Given the description of an element on the screen output the (x, y) to click on. 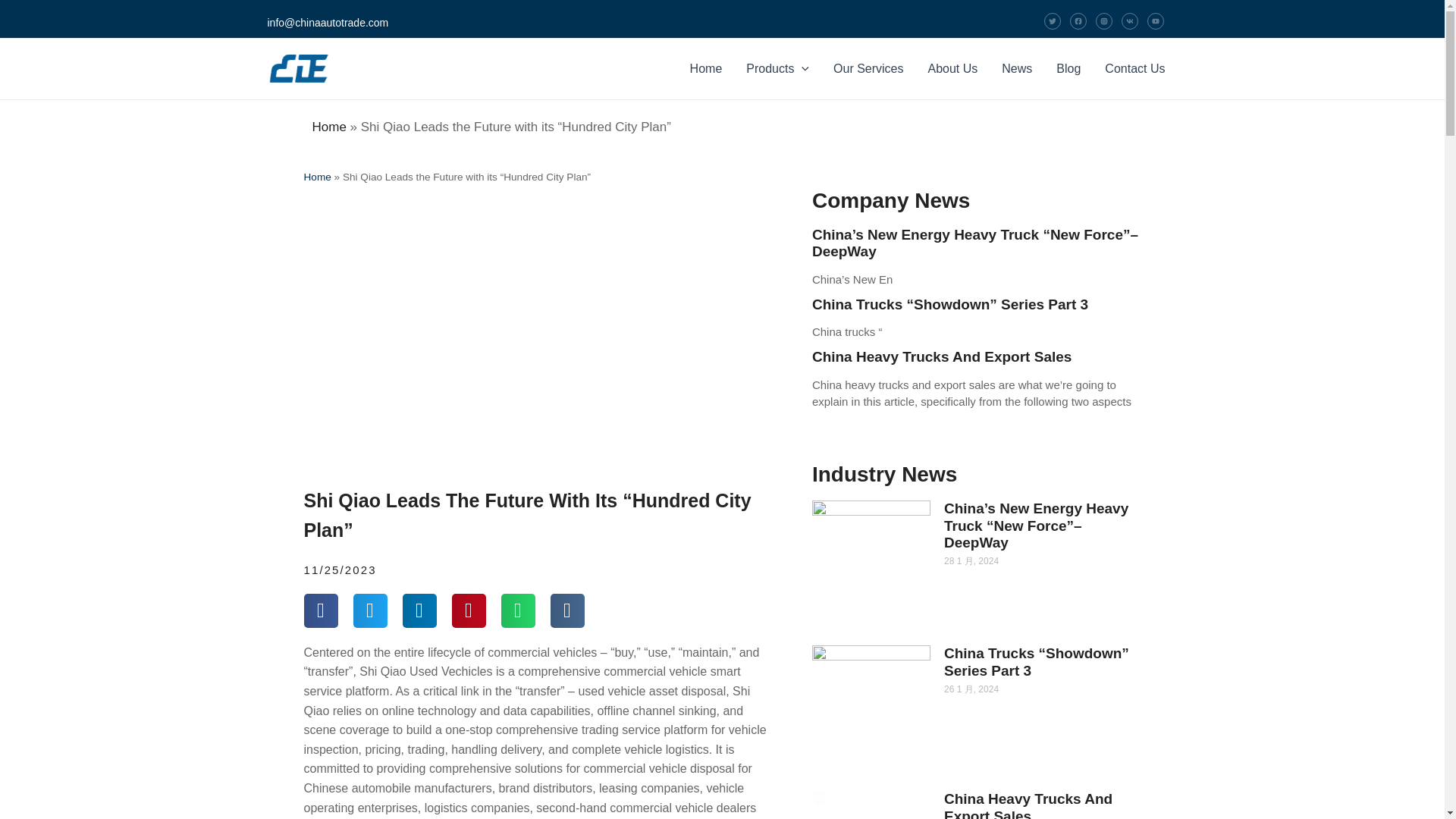
News (1016, 68)
About Us (952, 68)
China Heavy Trucks And Export Sales (941, 356)
Contact Us (1134, 68)
China Heavy Trucks And Export Sales (1027, 805)
Home (329, 126)
Our Services (868, 68)
Products (777, 68)
Home (706, 68)
Home (316, 176)
